Given the description of an element on the screen output the (x, y) to click on. 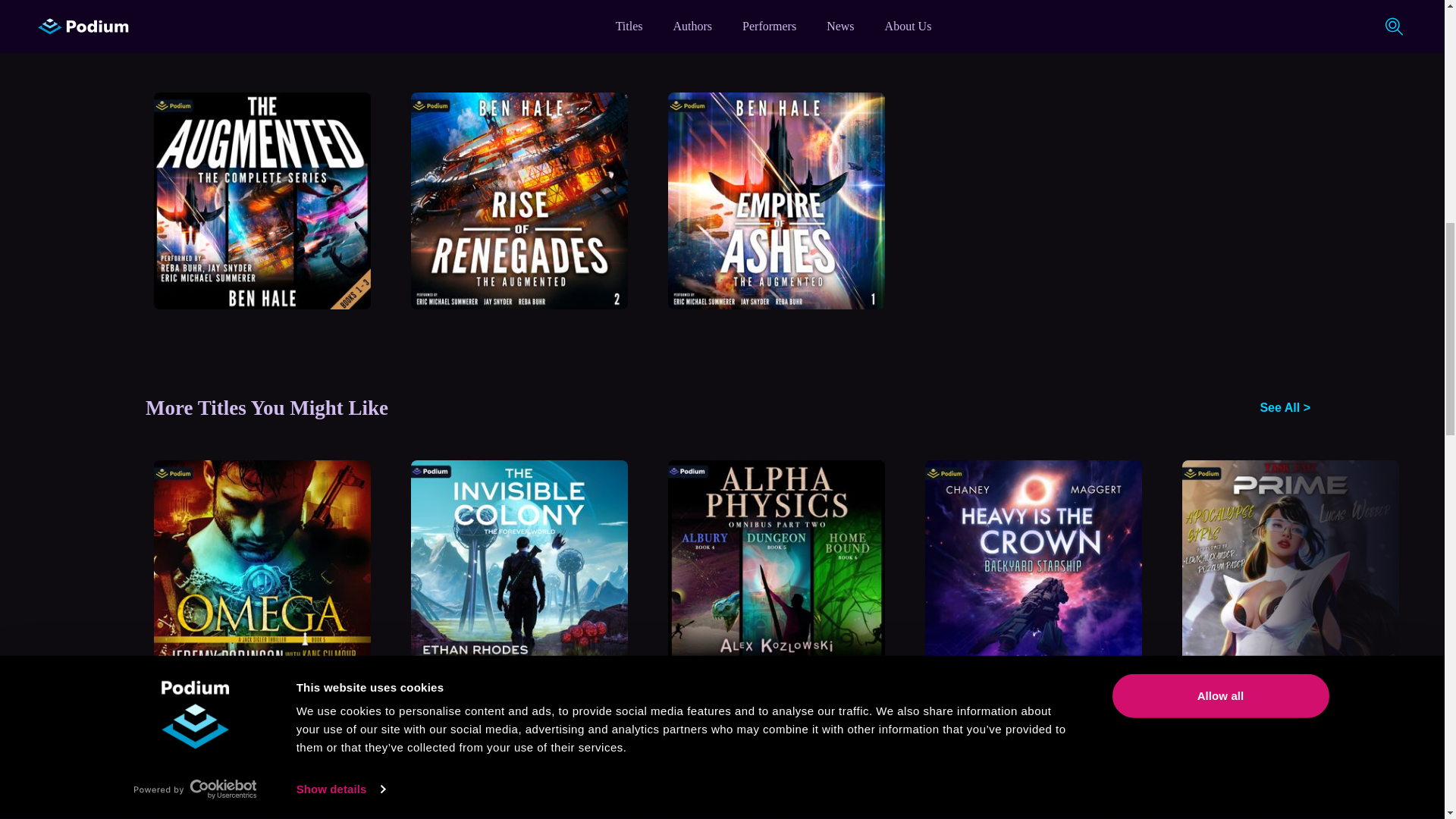
Latest Posts (727, 797)
